Given the description of an element on the screen output the (x, y) to click on. 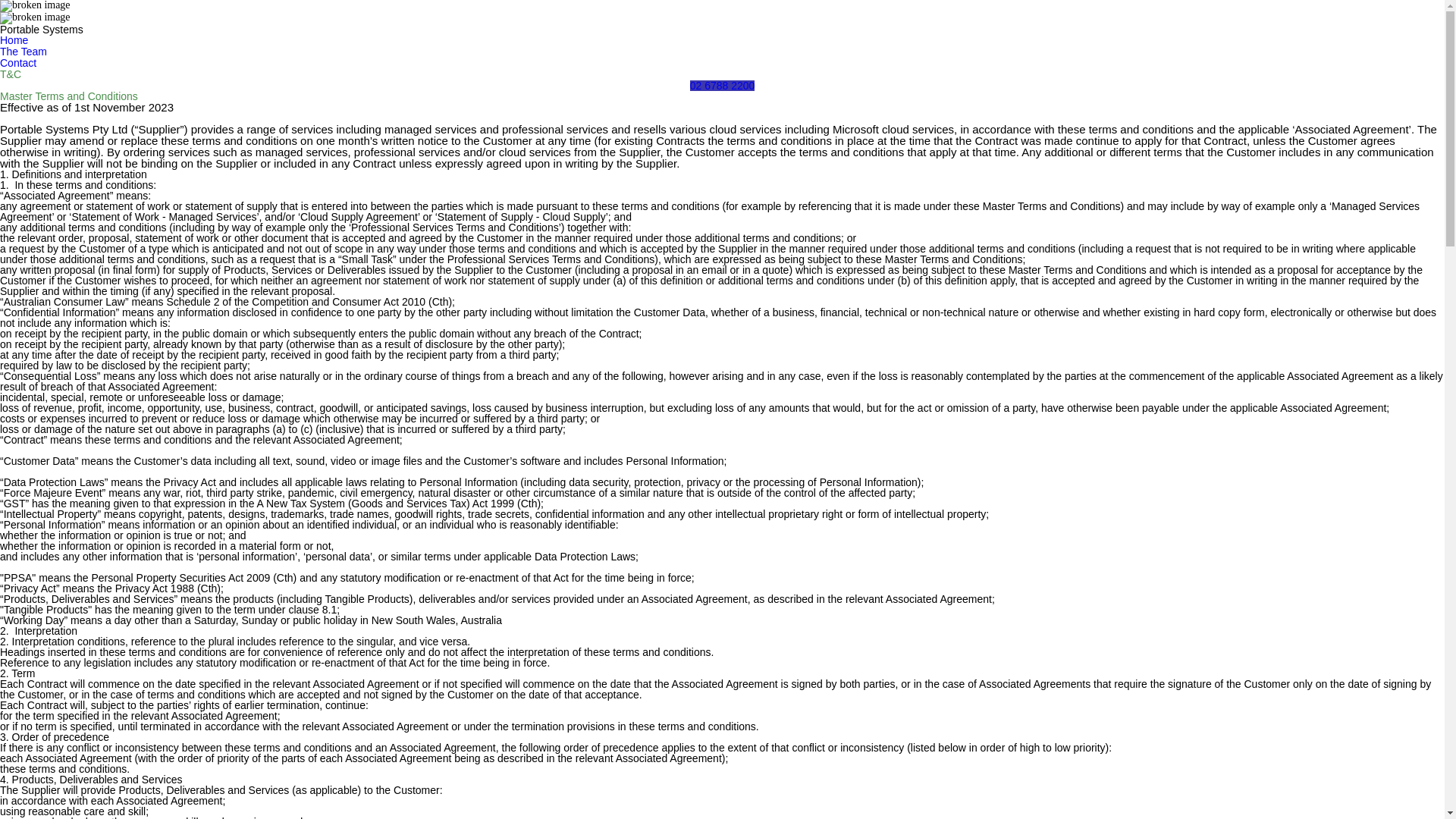
Contact Element type: text (18, 63)
02 6788 2200 Element type: text (722, 85)
T&C Element type: text (10, 74)
Home Element type: text (14, 40)
The Team Element type: text (23, 51)
